Given the description of an element on the screen output the (x, y) to click on. 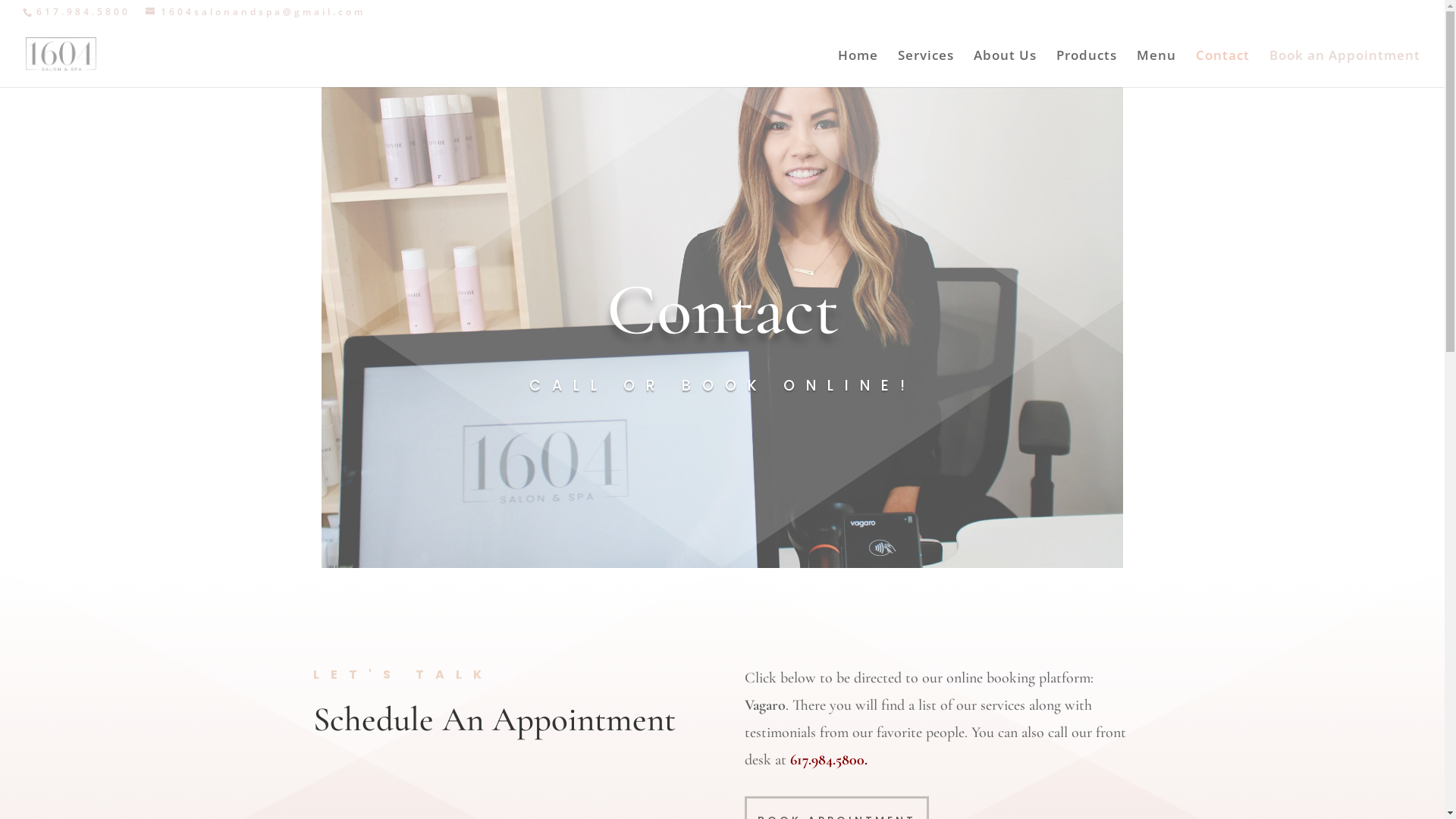
1604salonandspa@gmail.com Element type: text (255, 11)
Home Element type: text (857, 68)
Book an Appointment Element type: text (1344, 68)
Menu Element type: text (1156, 68)
617.984.5800 Element type: text (83, 11)
Products Element type: text (1086, 68)
Contact Element type: text (1222, 68)
617.984.5800. Element type: text (828, 759)
Services Element type: text (925, 68)
About Us Element type: text (1004, 68)
